Given the description of an element on the screen output the (x, y) to click on. 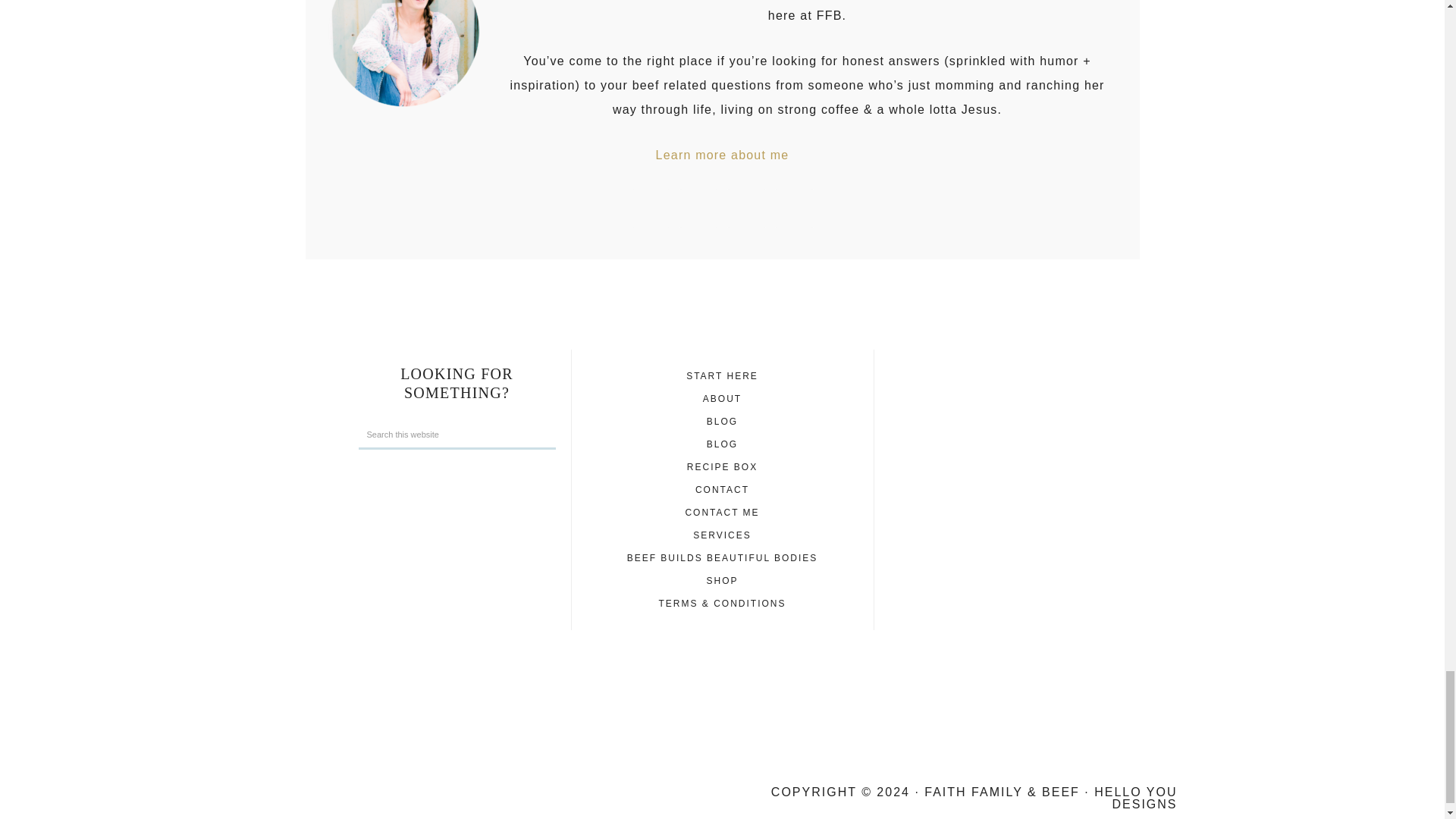
BLOG (722, 421)
RECIPE BOX (722, 466)
CONTACT ME (721, 511)
ABOUT (722, 398)
SERVICES (722, 534)
CONTACT (722, 489)
BLOG (722, 443)
